Given the description of an element on the screen output the (x, y) to click on. 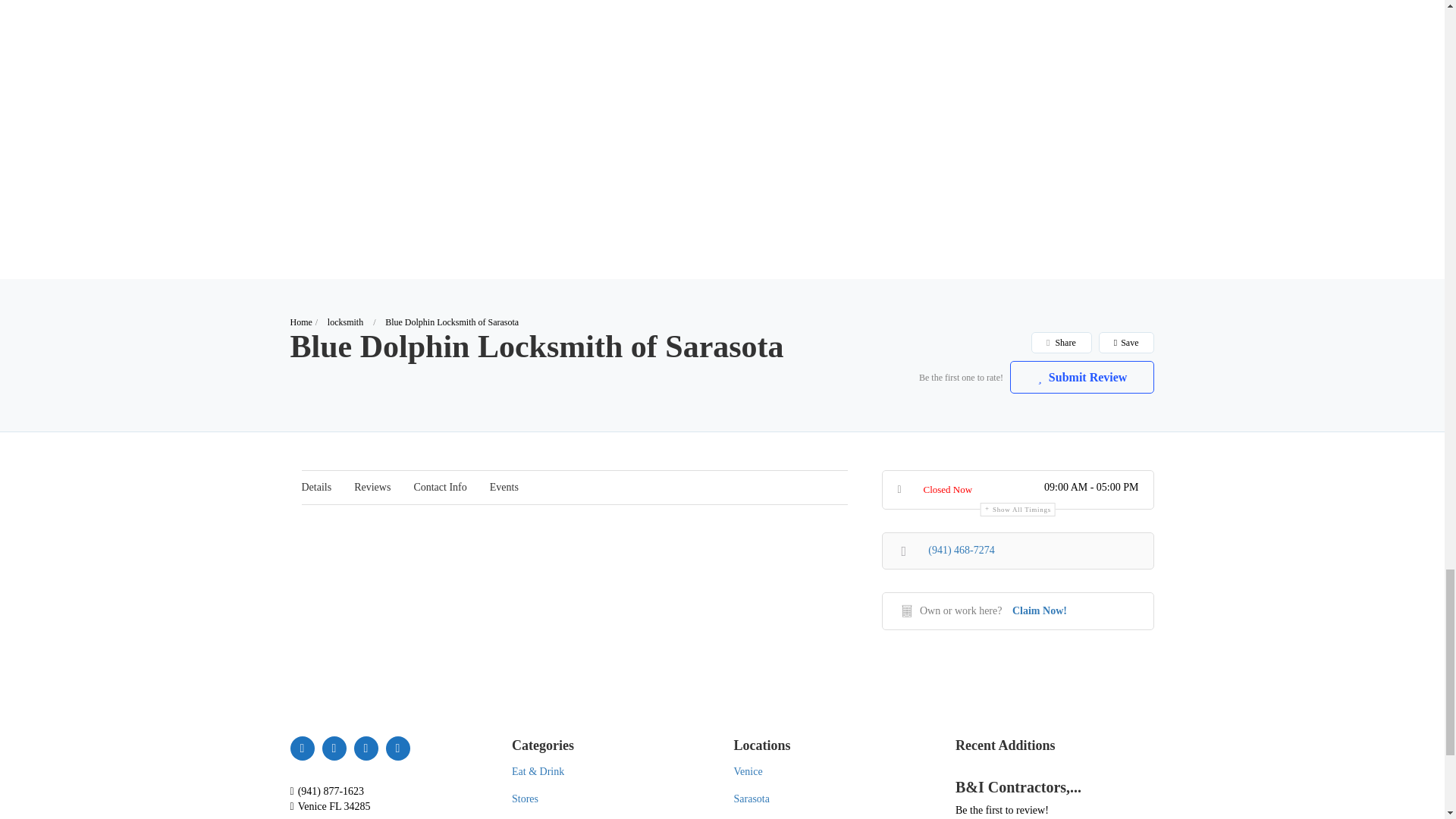
Share (1060, 342)
Home (300, 321)
locksmith (344, 321)
Save (1125, 342)
